Given the description of an element on the screen output the (x, y) to click on. 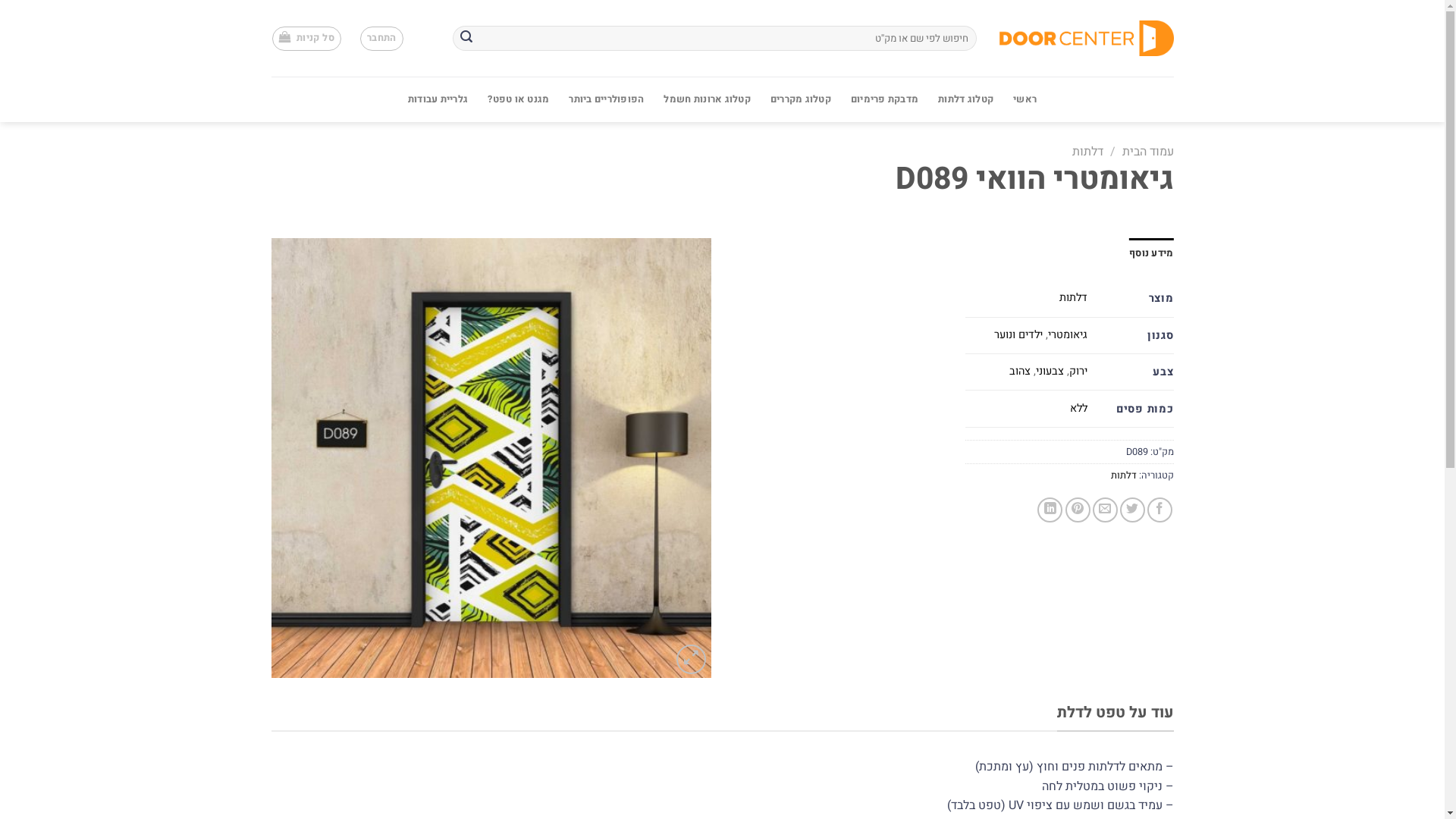
Share on LinkedIn Element type: hover (1049, 509)
